Given the description of an element on the screen output the (x, y) to click on. 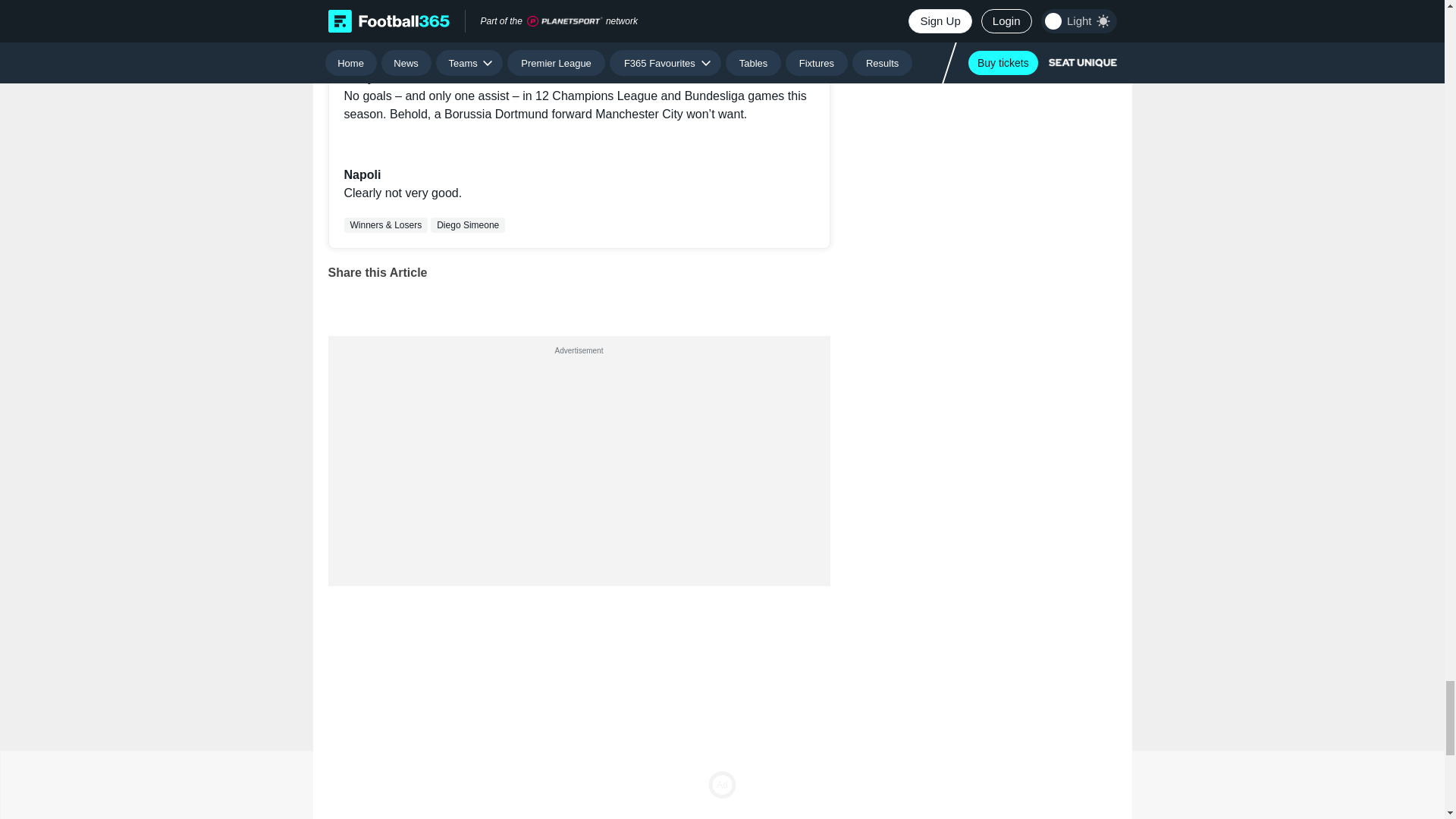
Vuukle Comments Widget (578, 702)
Vuukle Sharebar Widget (578, 298)
